Given the description of an element on the screen output the (x, y) to click on. 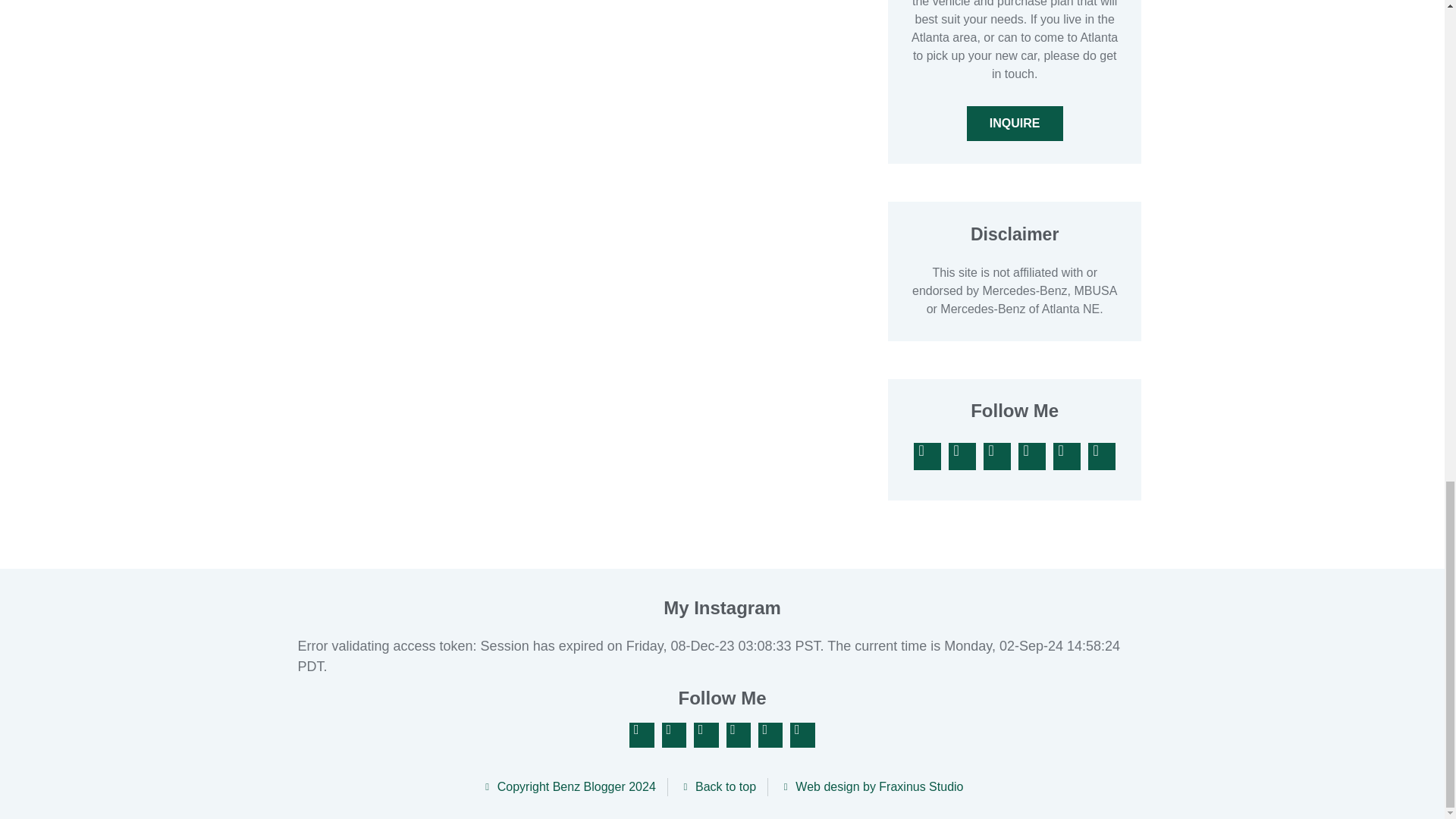
Back to top (717, 787)
Web design by Fraxinus Studio (870, 787)
INQUIRE (1014, 123)
Copyright Benz Blogger 2024 (567, 787)
